Given the description of an element on the screen output the (x, y) to click on. 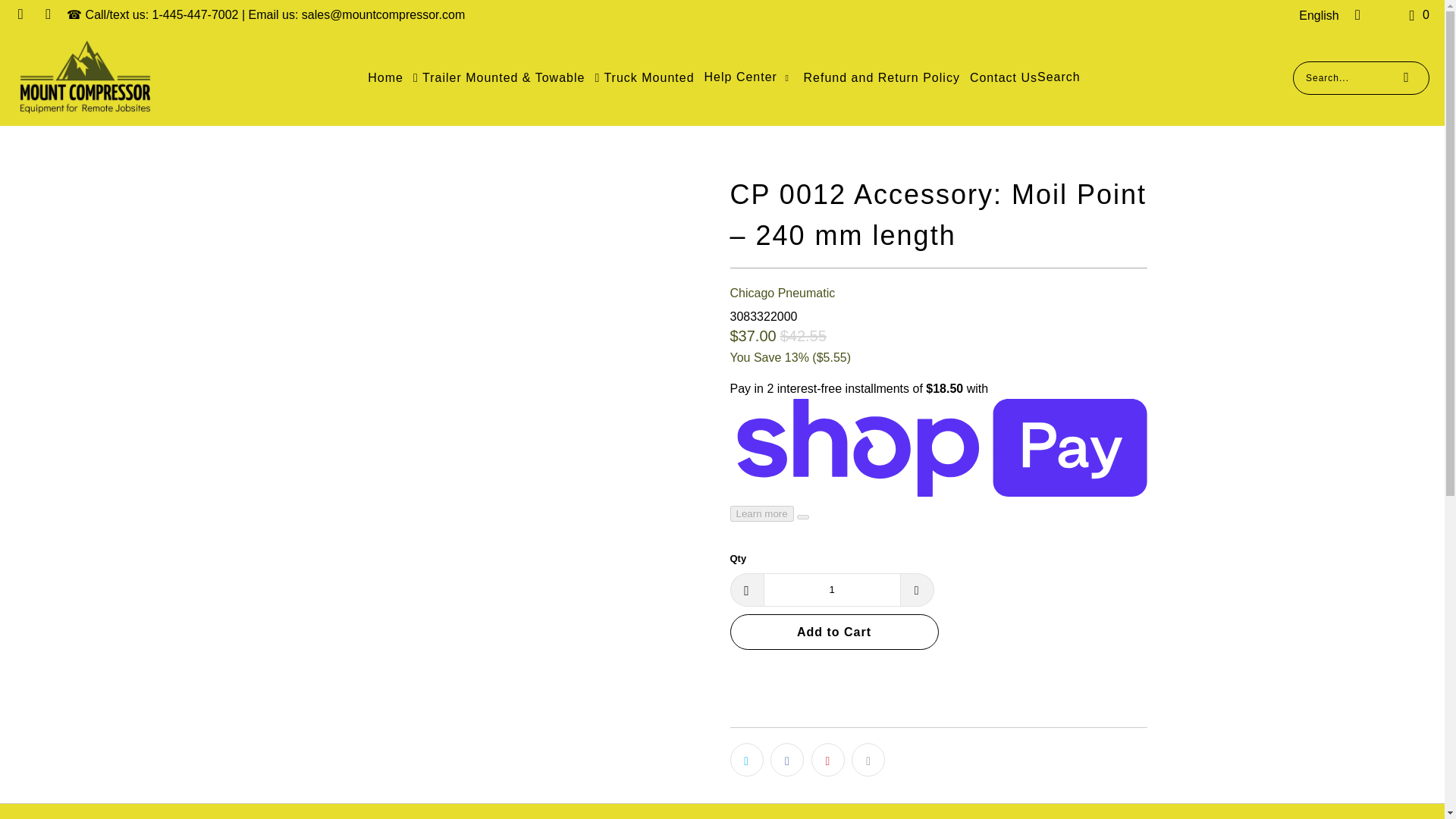
Share this on Facebook (786, 759)
Share this on Pinterest (827, 759)
Mount Compressor on Twitter (47, 14)
Email this to a friend (868, 759)
Mount Compressor on Instagram (19, 14)
Mount Compressor (84, 77)
Share this on Twitter (745, 759)
1 (830, 589)
